Given the description of an element on the screen output the (x, y) to click on. 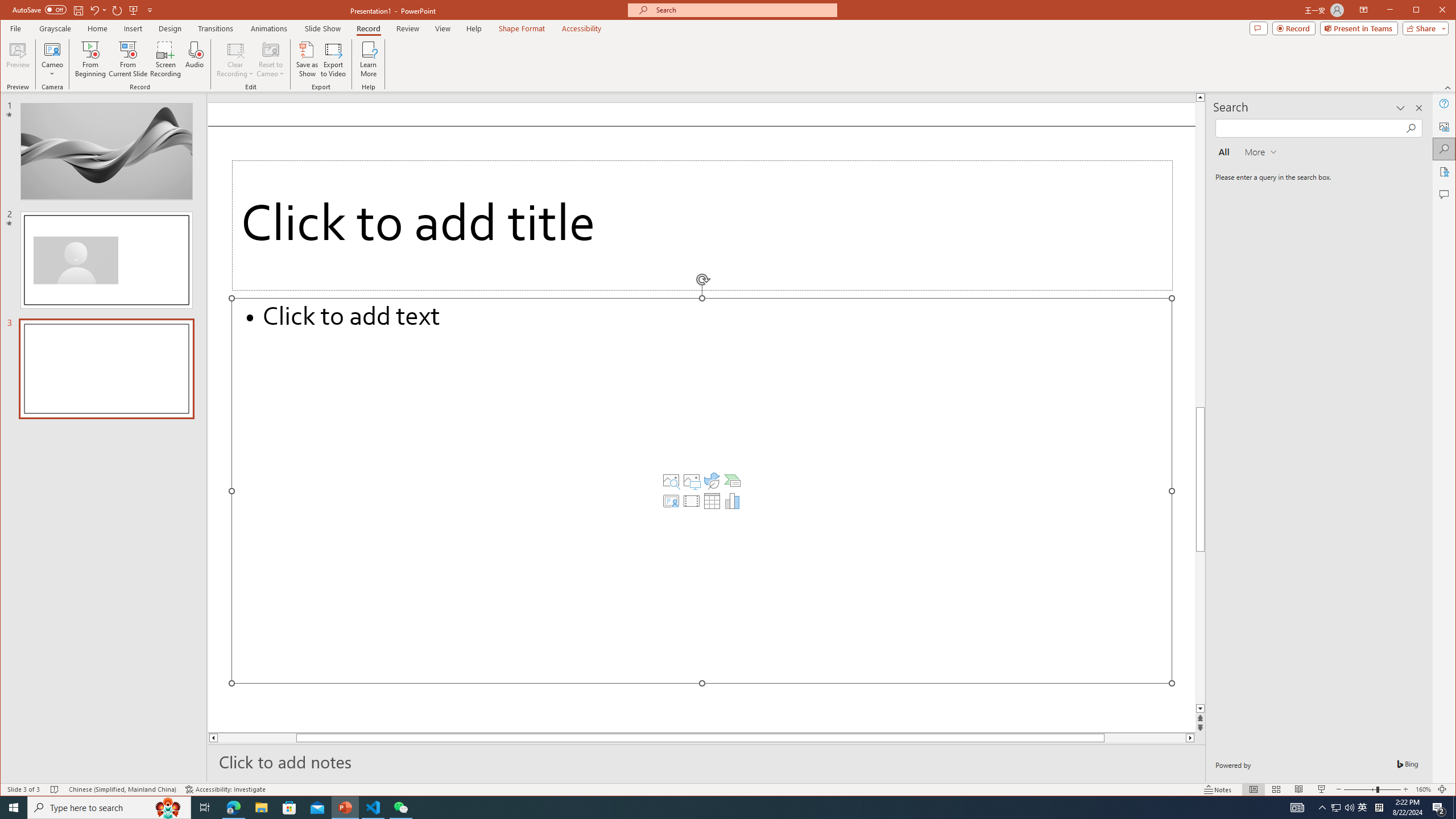
Export to Video (333, 59)
Content Placeholder (701, 490)
Visual Studio Code - 1 running window (373, 807)
Clear Recording (234, 59)
From Current Slide... (127, 59)
Line up (1200, 96)
Class: MsoCommandBar (1335, 807)
